Given the description of an element on the screen output the (x, y) to click on. 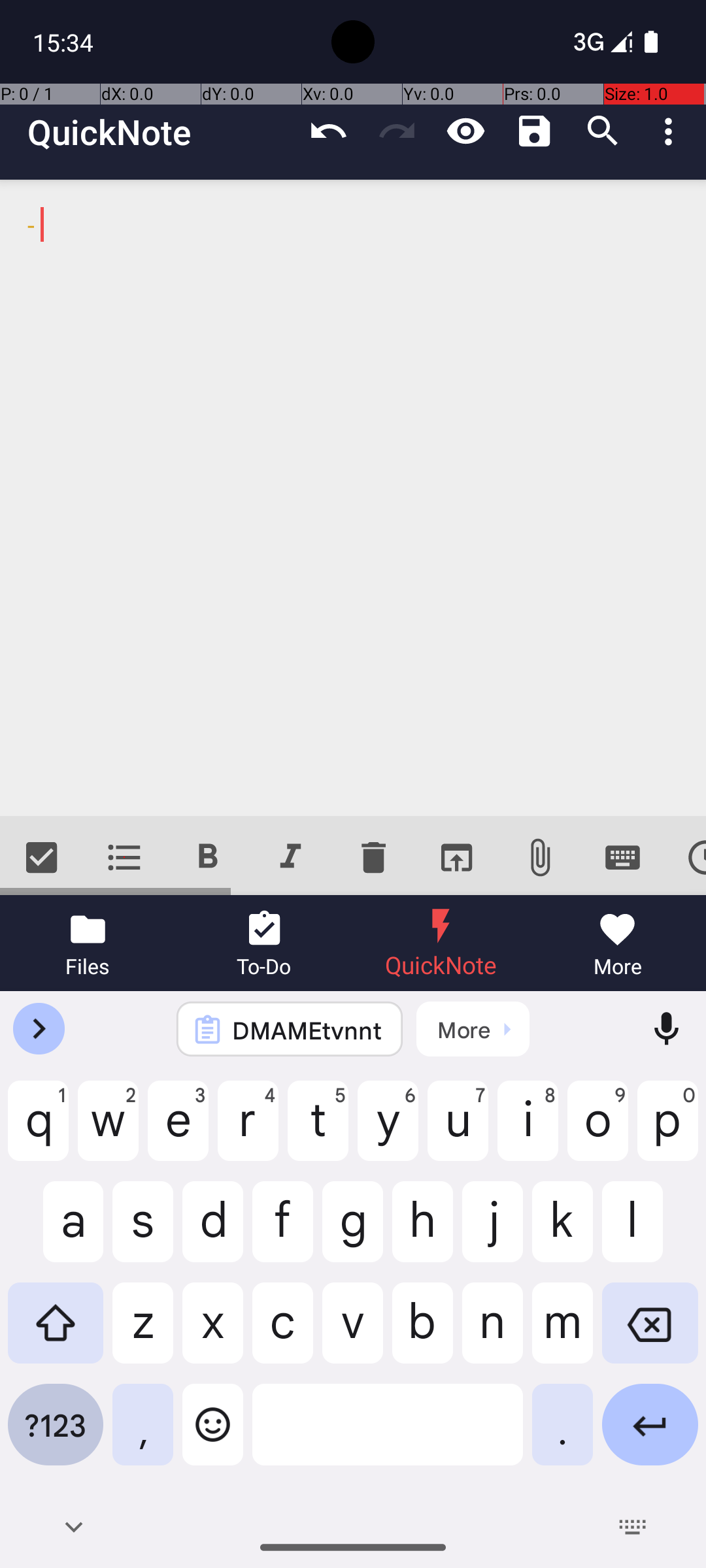
-  Element type: android.widget.EditText (353, 497)
DMAMEtvnnt Element type: android.widget.TextView (306, 1029)
